Given the description of an element on the screen output the (x, y) to click on. 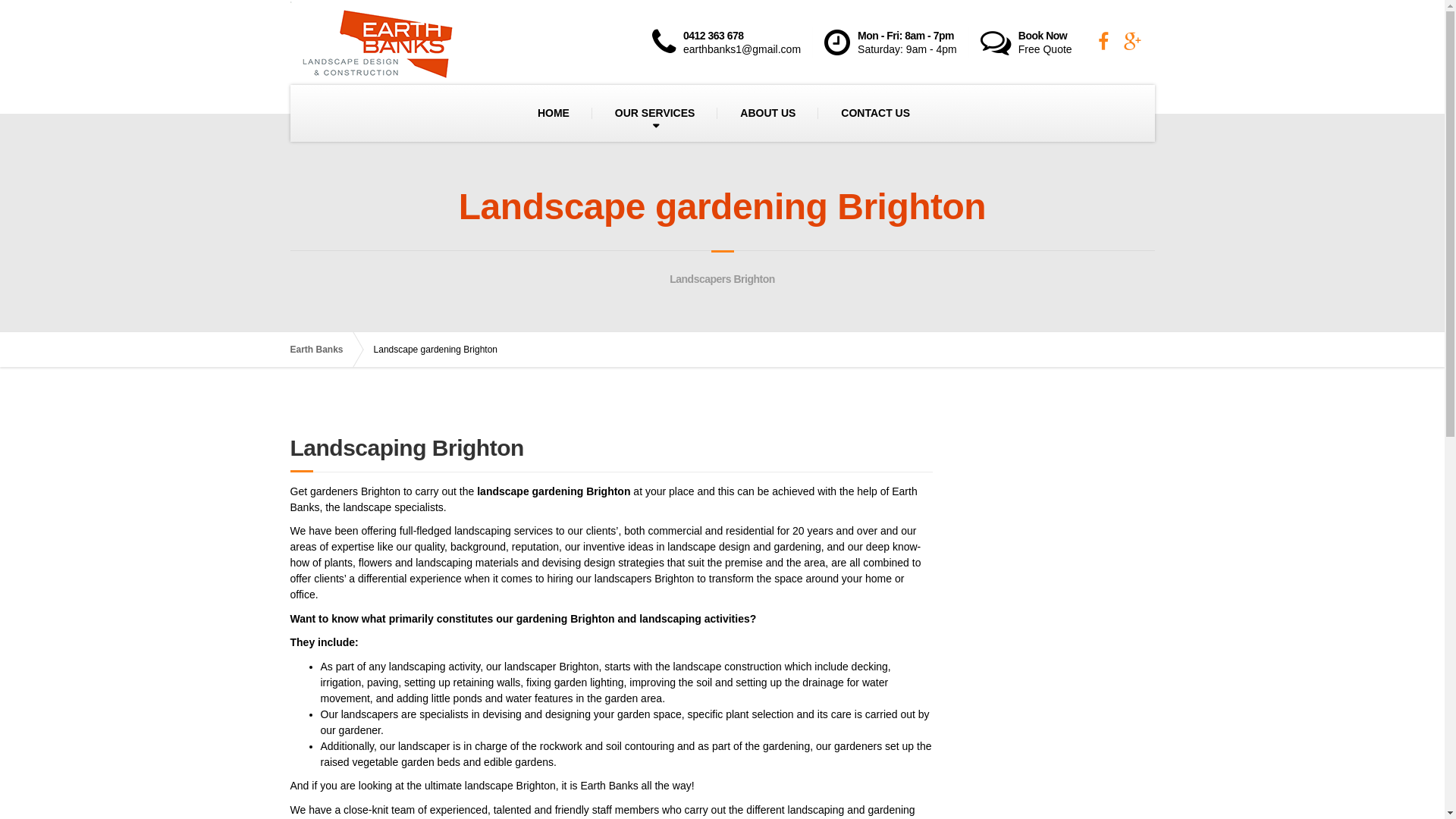
0412 363 678
earthbanks1@gmail.com Element type: text (732, 42)
Book Now
Free Quote Element type: text (1032, 42)
ABOUT US Element type: text (767, 112)
Earth Banks Element type: text (323, 349)
HOME Element type: text (553, 112)
OUR SERVICES Element type: text (655, 112)
CONTACT US Element type: text (875, 112)
